Given the description of an element on the screen output the (x, y) to click on. 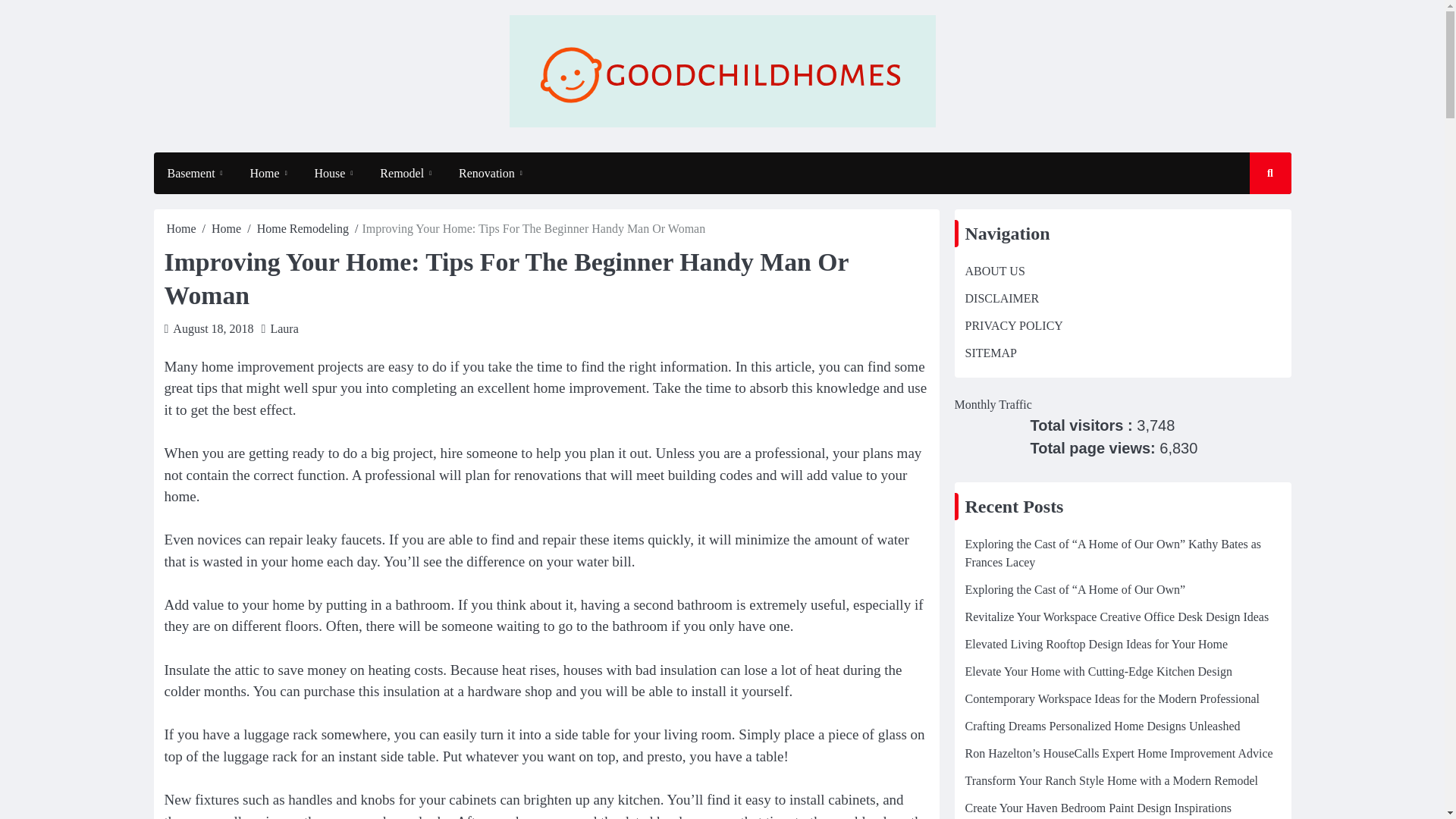
Basement (193, 173)
Home (226, 228)
Home Remodeling (303, 228)
Home (268, 173)
Search (1256, 217)
House (333, 173)
Laura (283, 328)
Renovation (490, 173)
Remodel (405, 173)
August 18, 2018 (213, 328)
Home (181, 228)
